Given the description of an element on the screen output the (x, y) to click on. 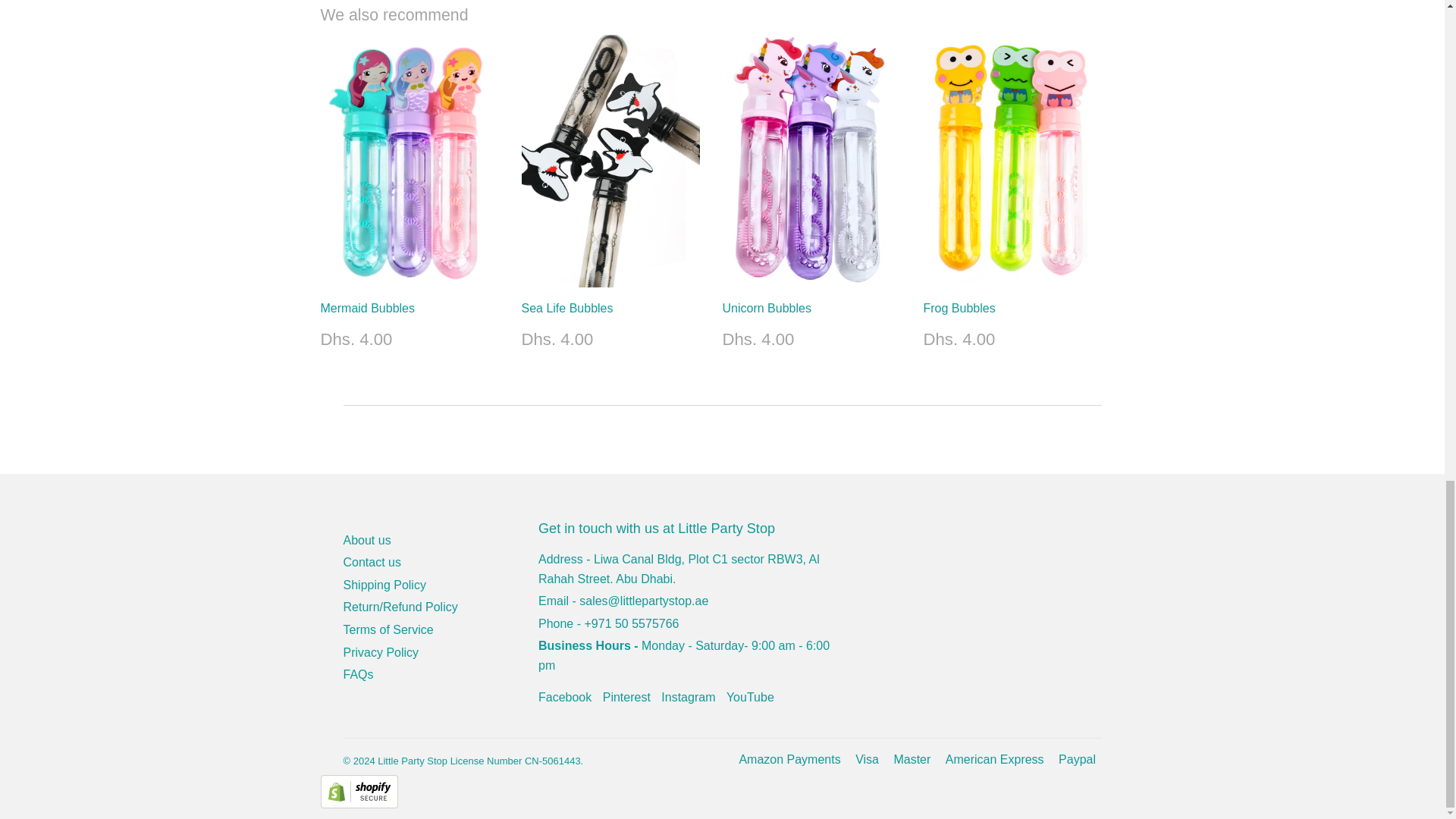
Little Party Stop on YouTube (750, 697)
Little Party Stop on Instagram (687, 697)
Little Party Stop on Pinterest (626, 697)
This online store is secured by Shopify (358, 803)
Little Party Stop on Facebook (564, 697)
